Given the description of an element on the screen output the (x, y) to click on. 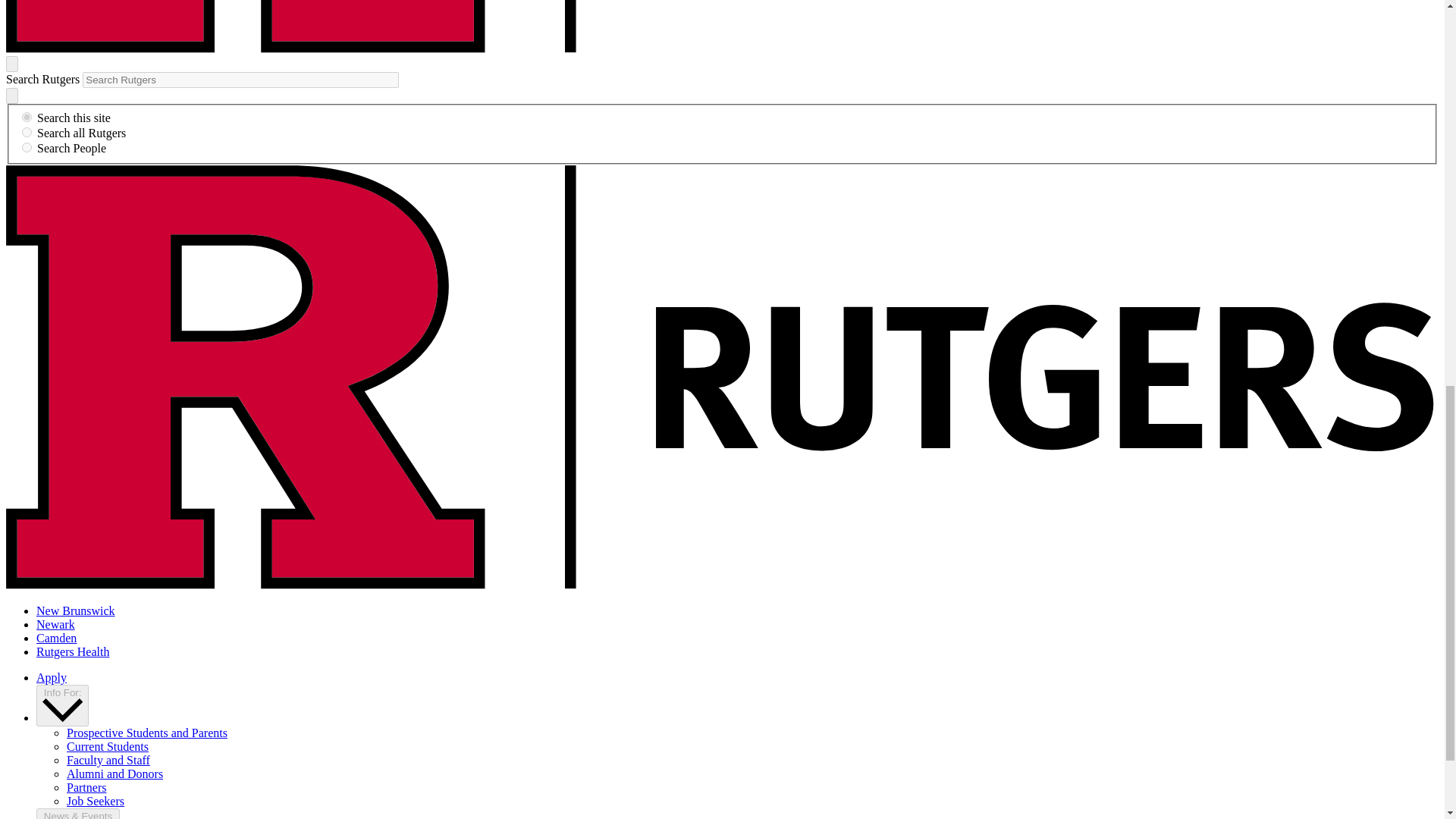
Newark (55, 624)
New Brunswick (75, 610)
Current Students (107, 746)
search-people (26, 147)
Rutgers Health (72, 651)
Partners (86, 787)
Alumni and Donors (114, 773)
Camden (56, 637)
Apply (51, 676)
Prospective Students and Parents (146, 732)
Job Seekers (94, 800)
Faculty and Staff (107, 759)
Info For: (62, 705)
search-all-rutgers (26, 132)
search-this-site (26, 117)
